Given the description of an element on the screen output the (x, y) to click on. 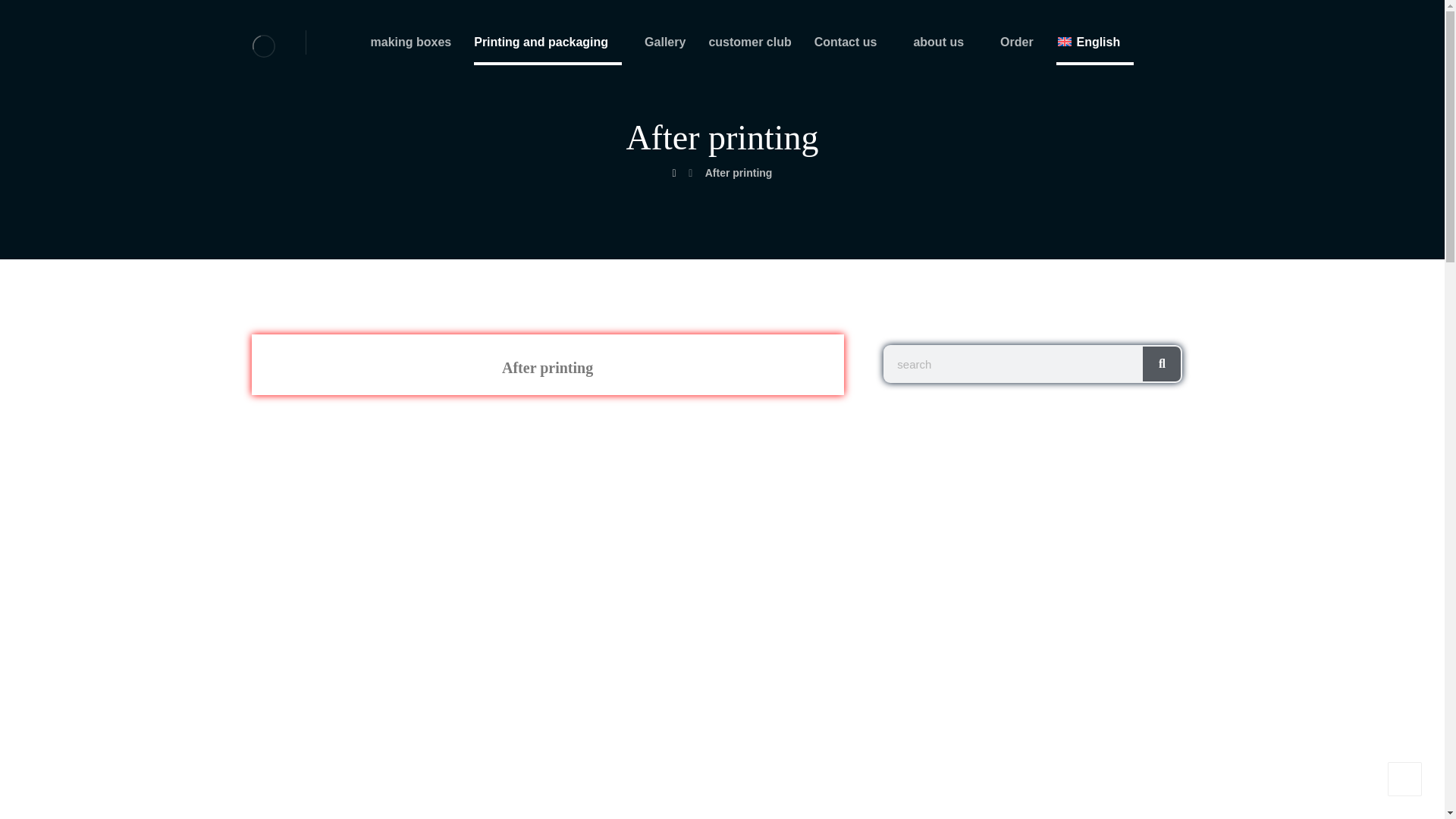
making boxes (410, 47)
Contact us (852, 47)
about us (944, 47)
customer club (748, 47)
Order (1016, 47)
Printing and packaging (547, 47)
English (1095, 47)
Search (1161, 363)
Gallery (665, 47)
Search (1013, 363)
